Given the description of an element on the screen output the (x, y) to click on. 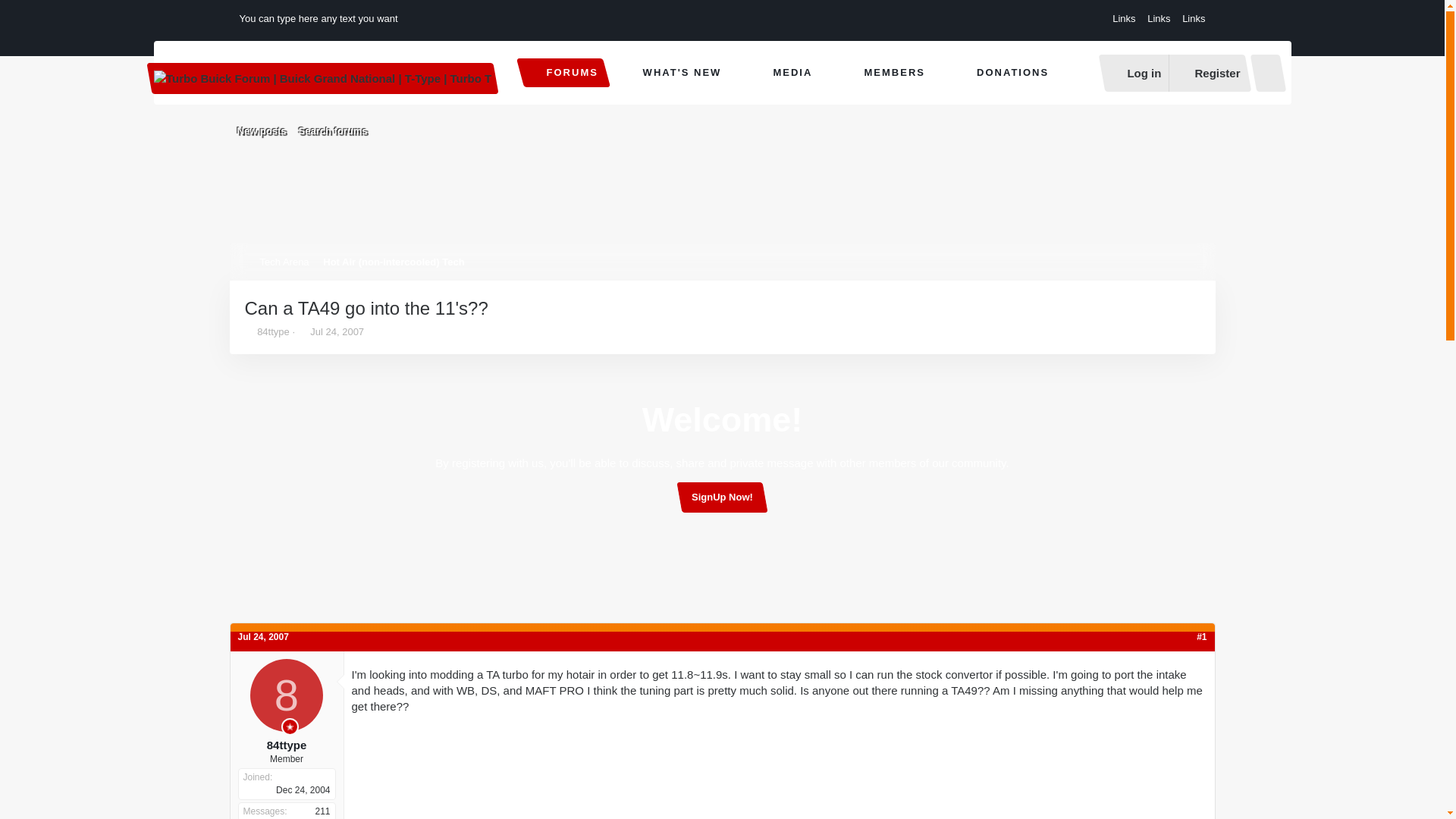
Start date (302, 330)
Log in (1135, 72)
FORUMS (563, 72)
Register (1208, 72)
WHAT'S NEW (721, 130)
Search forums (667, 72)
Links Links Links (333, 130)
New posts (1156, 18)
MEDIA (261, 130)
